Given the description of an element on the screen output the (x, y) to click on. 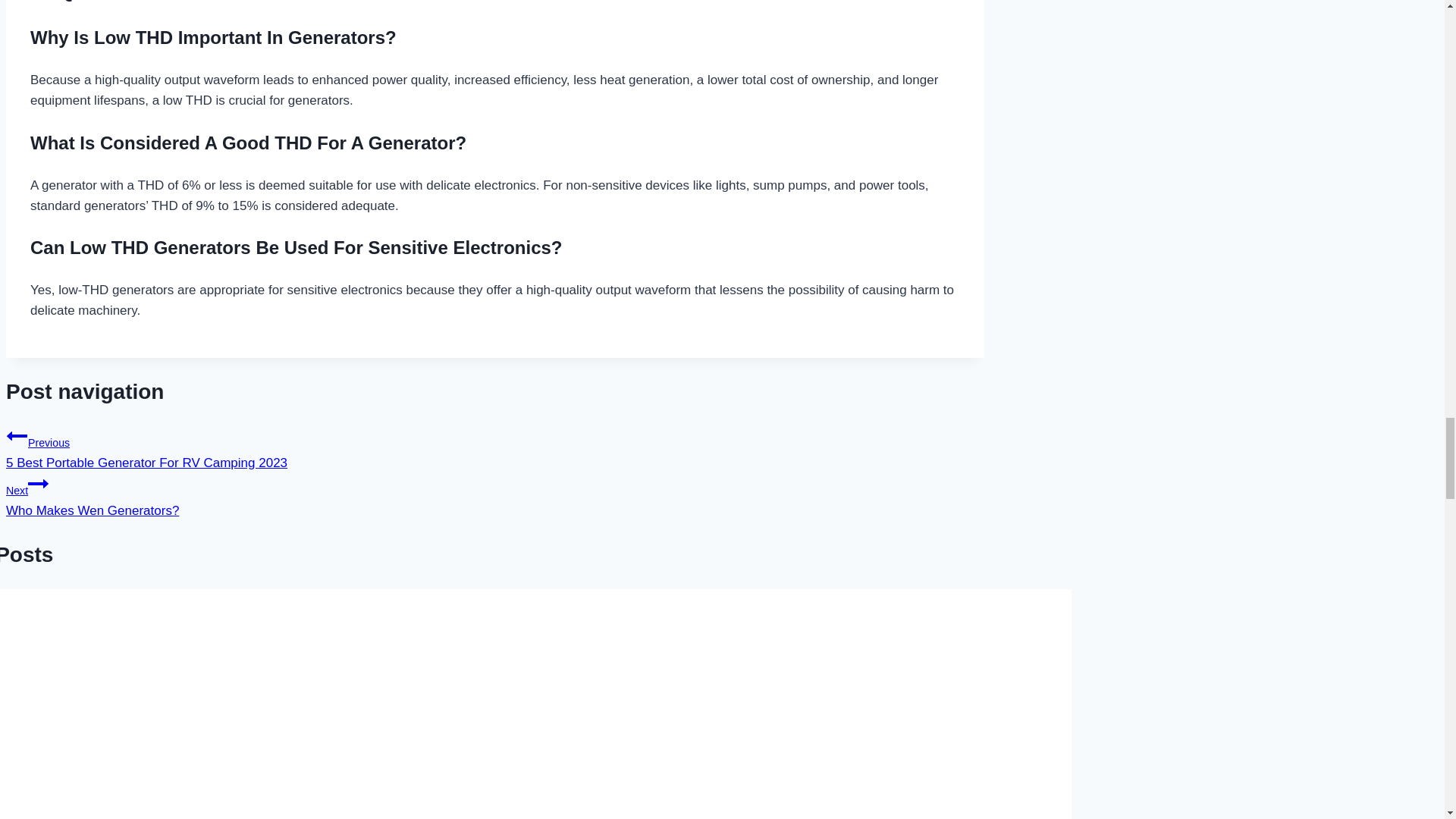
What To Do Why My Onan Generator Keep Shutting Off? Help! (250, 703)
Continue (37, 483)
Previous (16, 435)
